Given the description of an element on the screen output the (x, y) to click on. 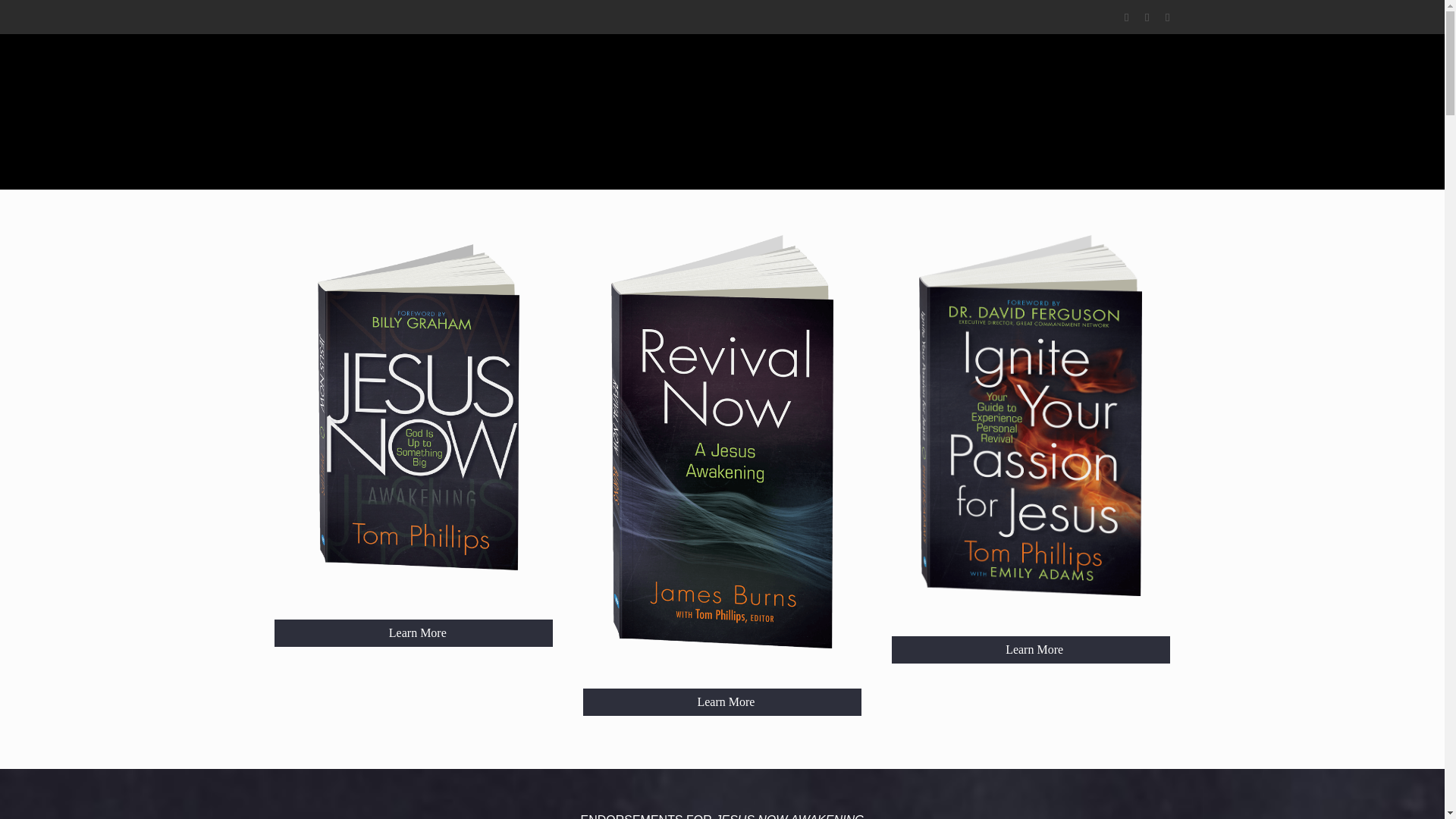
Learn More (414, 633)
Learn More (1030, 649)
YouTube (1146, 17)
Learn More (722, 701)
Facebook (1126, 17)
Instagram (1166, 17)
